Given the description of an element on the screen output the (x, y) to click on. 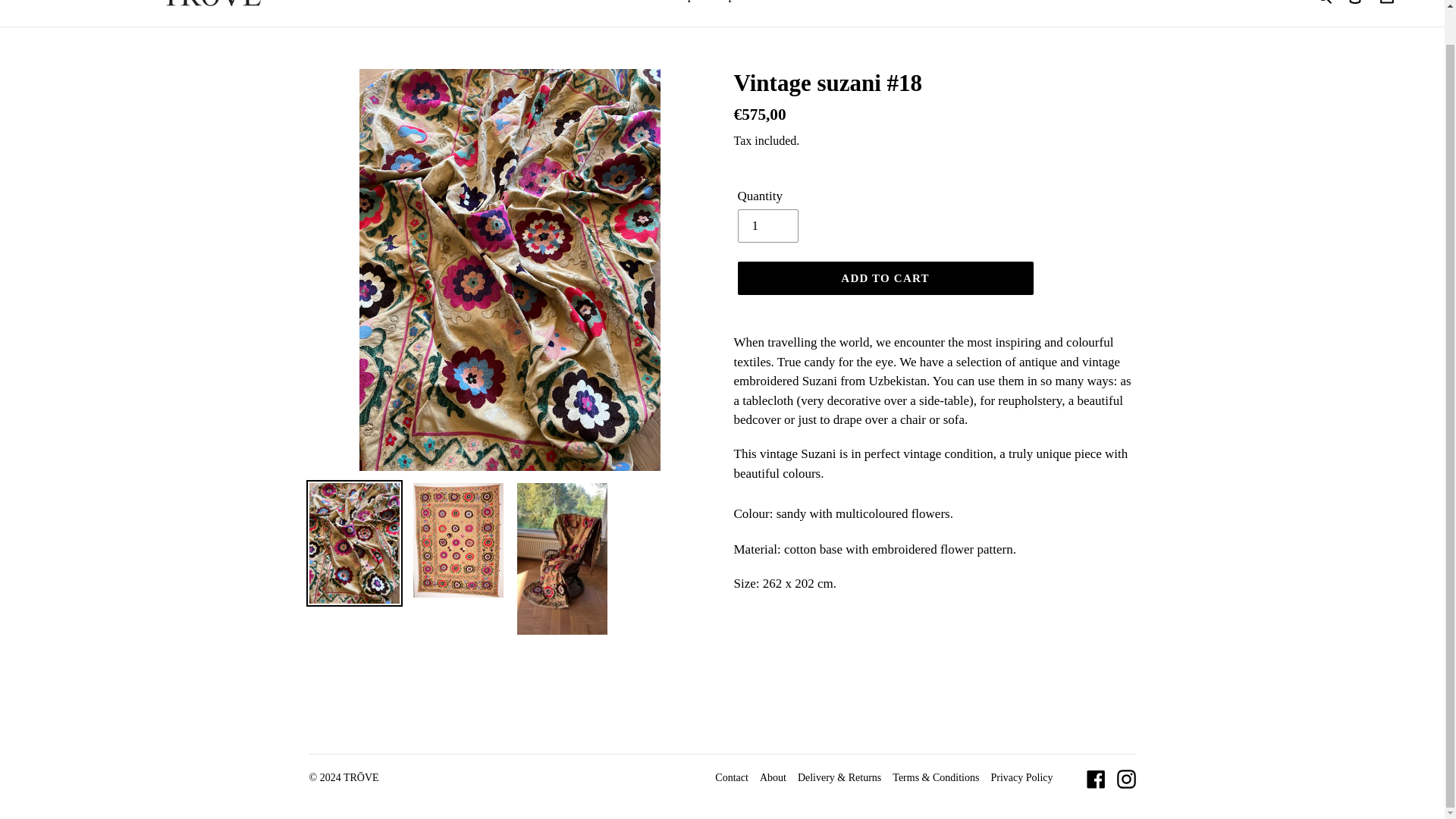
Facebook (1095, 778)
Contact (731, 777)
Shop (680, 3)
Privacy Policy (1021, 777)
Home (634, 3)
1 (766, 225)
Instagram (1125, 778)
Cart (1387, 6)
About (773, 777)
ADD TO CART (884, 277)
